Given the description of an element on the screen output the (x, y) to click on. 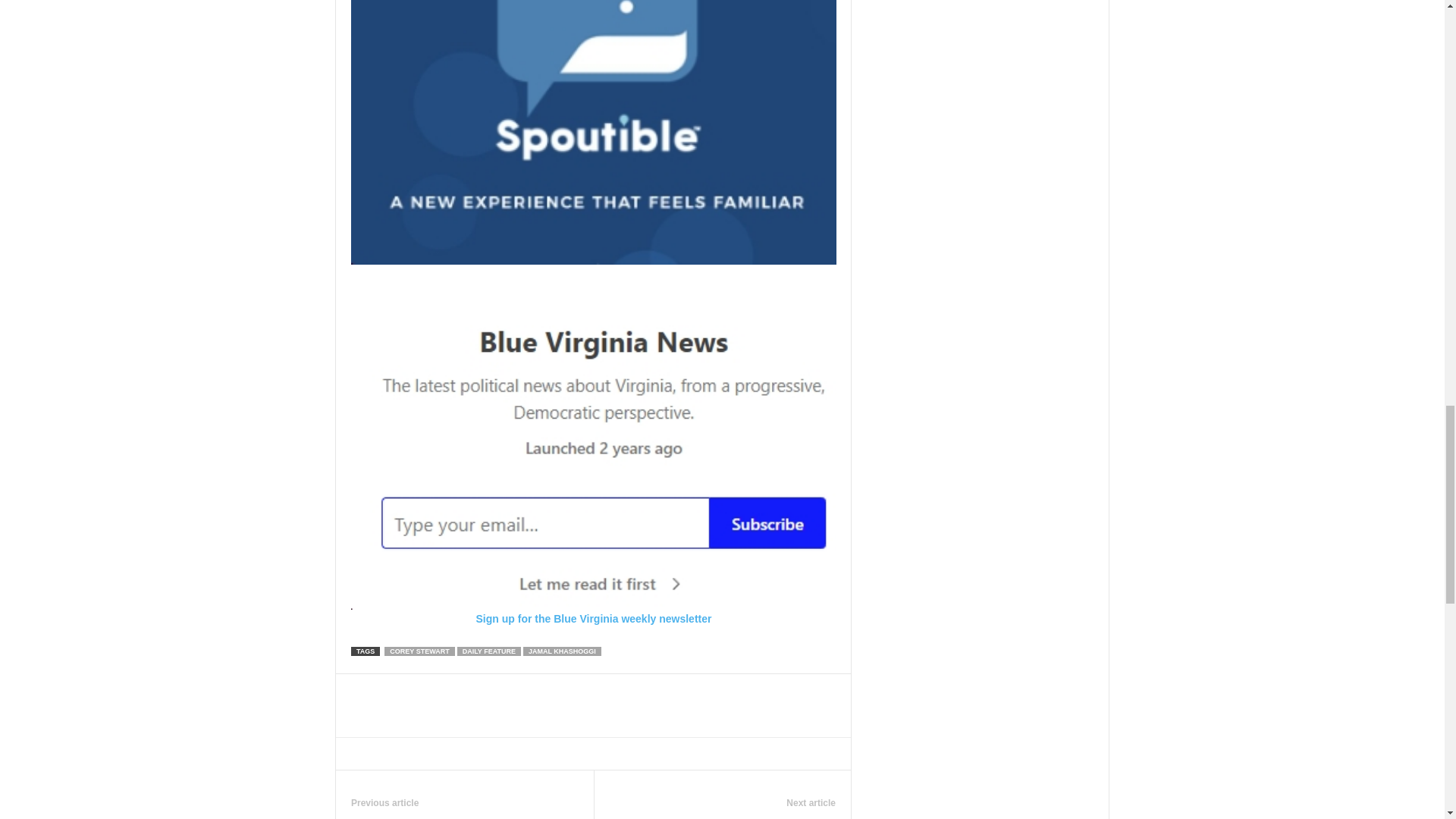
DAILY FEATURE (489, 651)
JAMAL KHASHOGGI (561, 651)
COREY STEWART (419, 651)
